Given the description of an element on the screen output the (x, y) to click on. 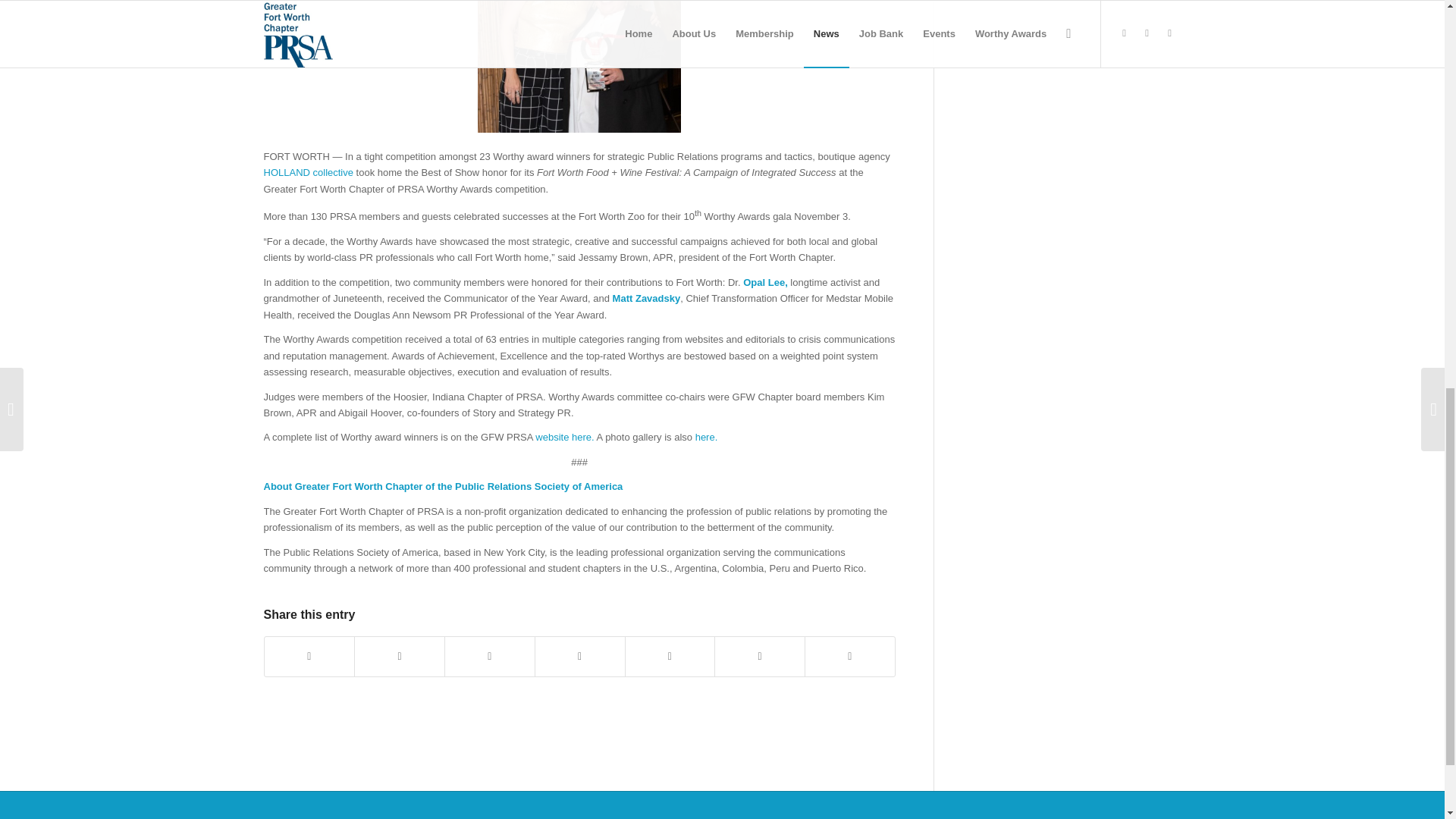
website here. (564, 437)
HOLLAND collective (308, 172)
here. (706, 437)
